Given the description of an element on the screen output the (x, y) to click on. 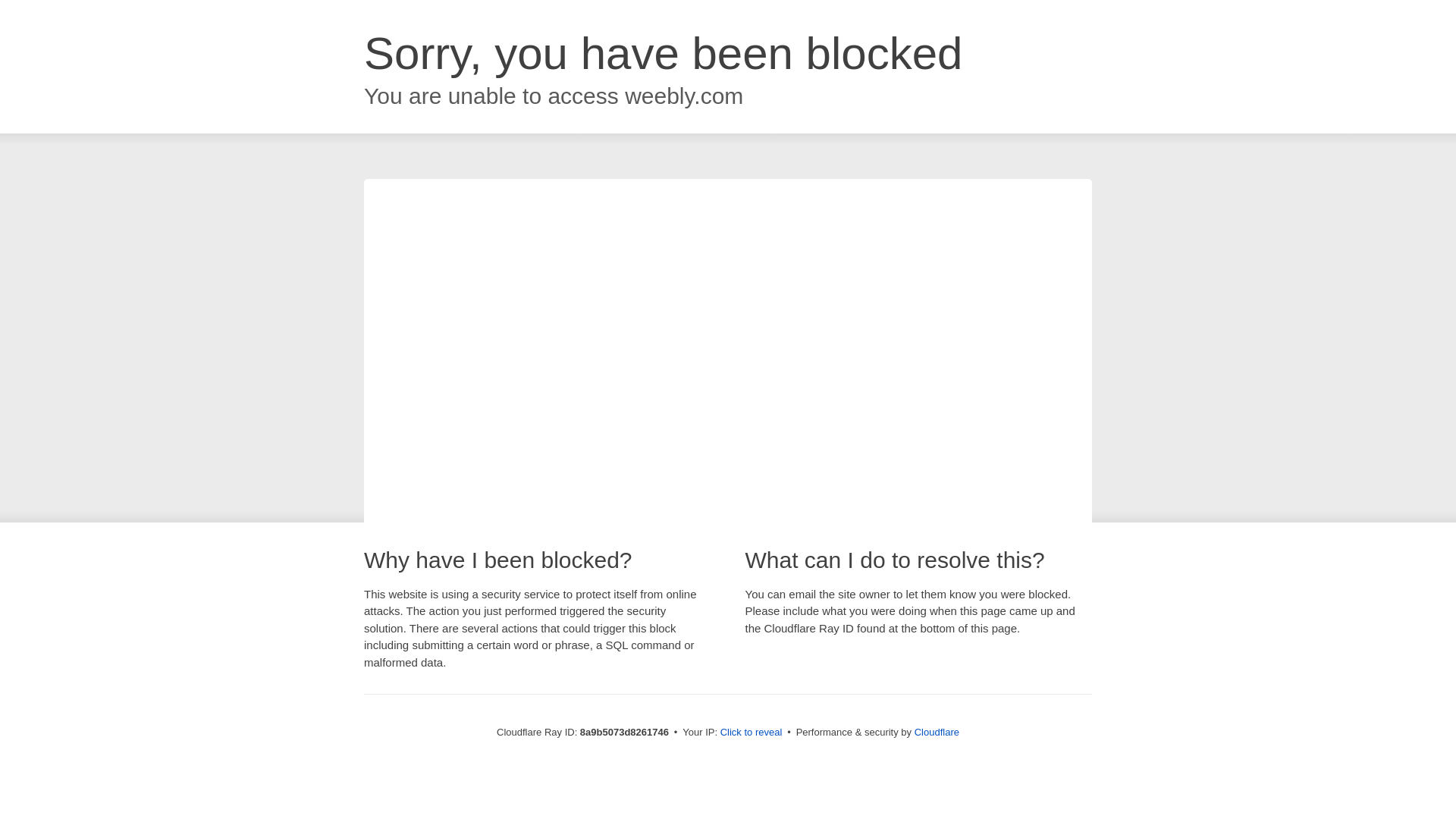
Cloudflare (936, 731)
Click to reveal (751, 732)
